Given the description of an element on the screen output the (x, y) to click on. 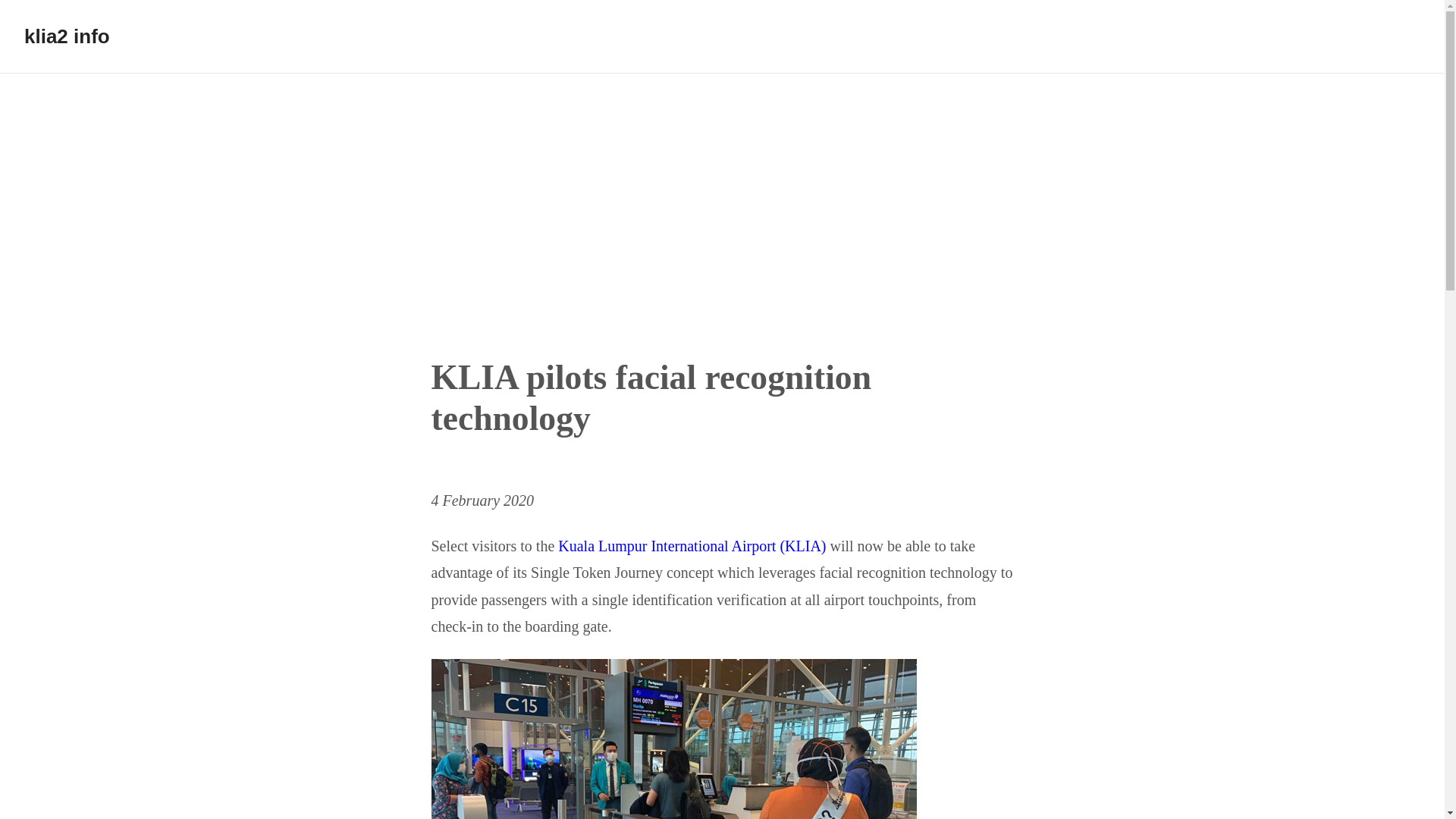
klia2 info (67, 36)
